Given the description of an element on the screen output the (x, y) to click on. 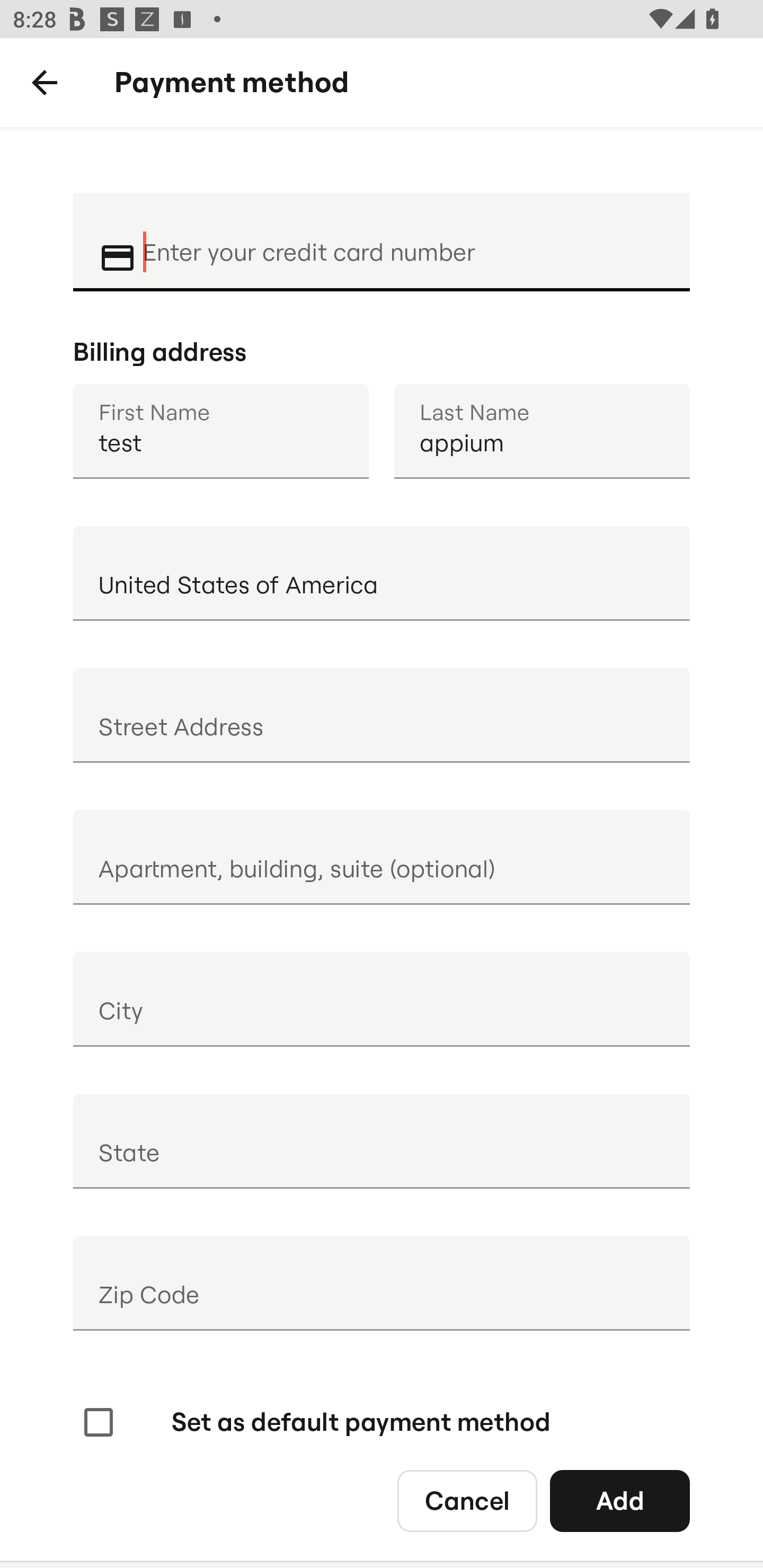
Back (44, 82)
Enter your credit card number (403, 240)
test (220, 431)
appium (541, 431)
United States of America (381, 572)
Street Address (381, 714)
Apartment, building, suite (optional) (381, 857)
City (381, 999)
State (381, 1141)
Zip Code (381, 1283)
Set as default payment method (314, 1421)
Cancel (467, 1500)
Add (619, 1500)
